Given the description of an element on the screen output the (x, y) to click on. 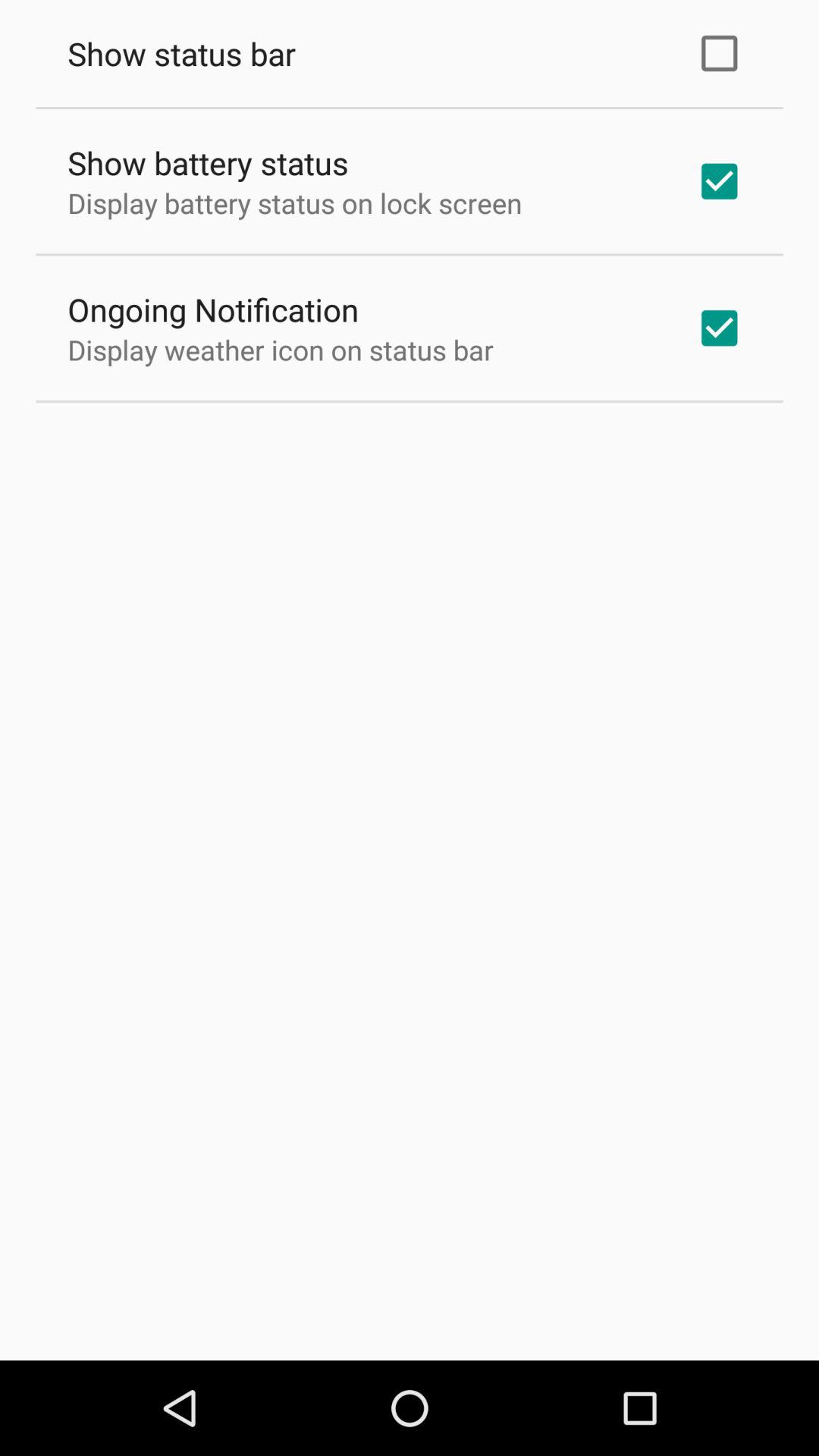
swipe to the ongoing notification icon (212, 309)
